Given the description of an element on the screen output the (x, y) to click on. 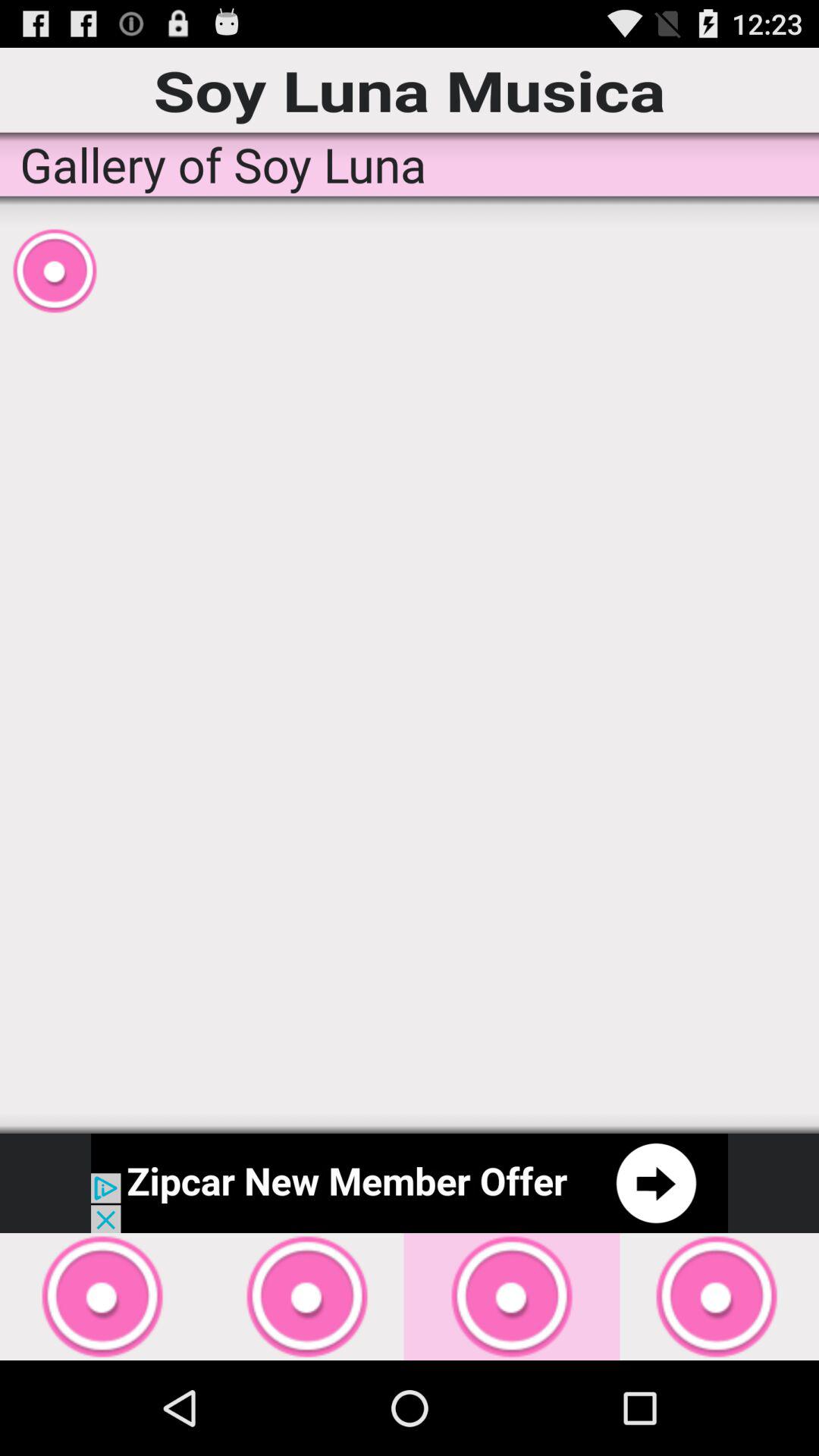
advertisement banner (409, 1183)
